Given the description of an element on the screen output the (x, y) to click on. 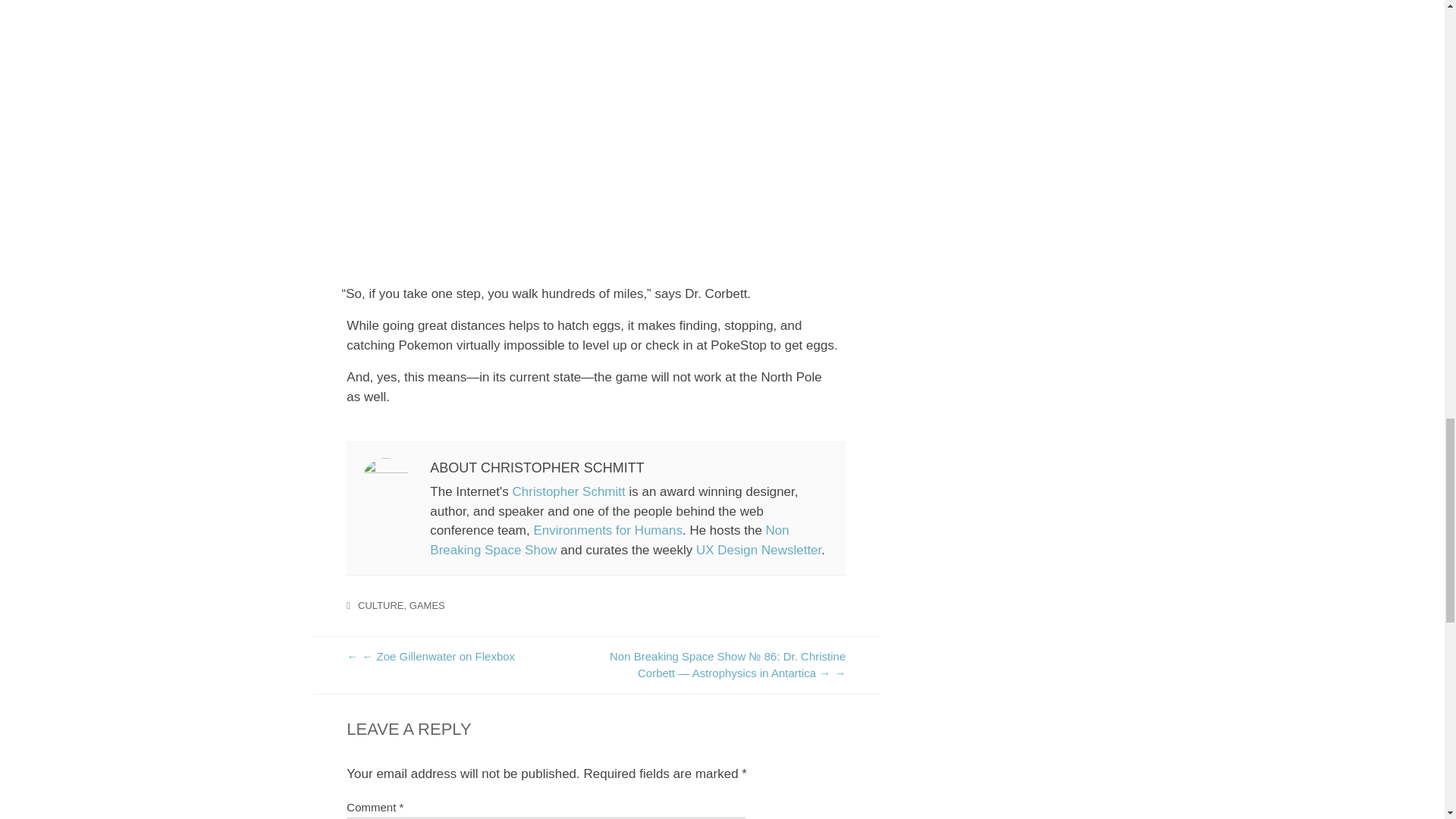
CULTURE (380, 604)
UX Design Newsletter (758, 549)
GAMES (427, 604)
Non Breaking Space Show (609, 540)
Christopher Schmitt (568, 491)
Environments for Humans (607, 530)
